Given the description of an element on the screen output the (x, y) to click on. 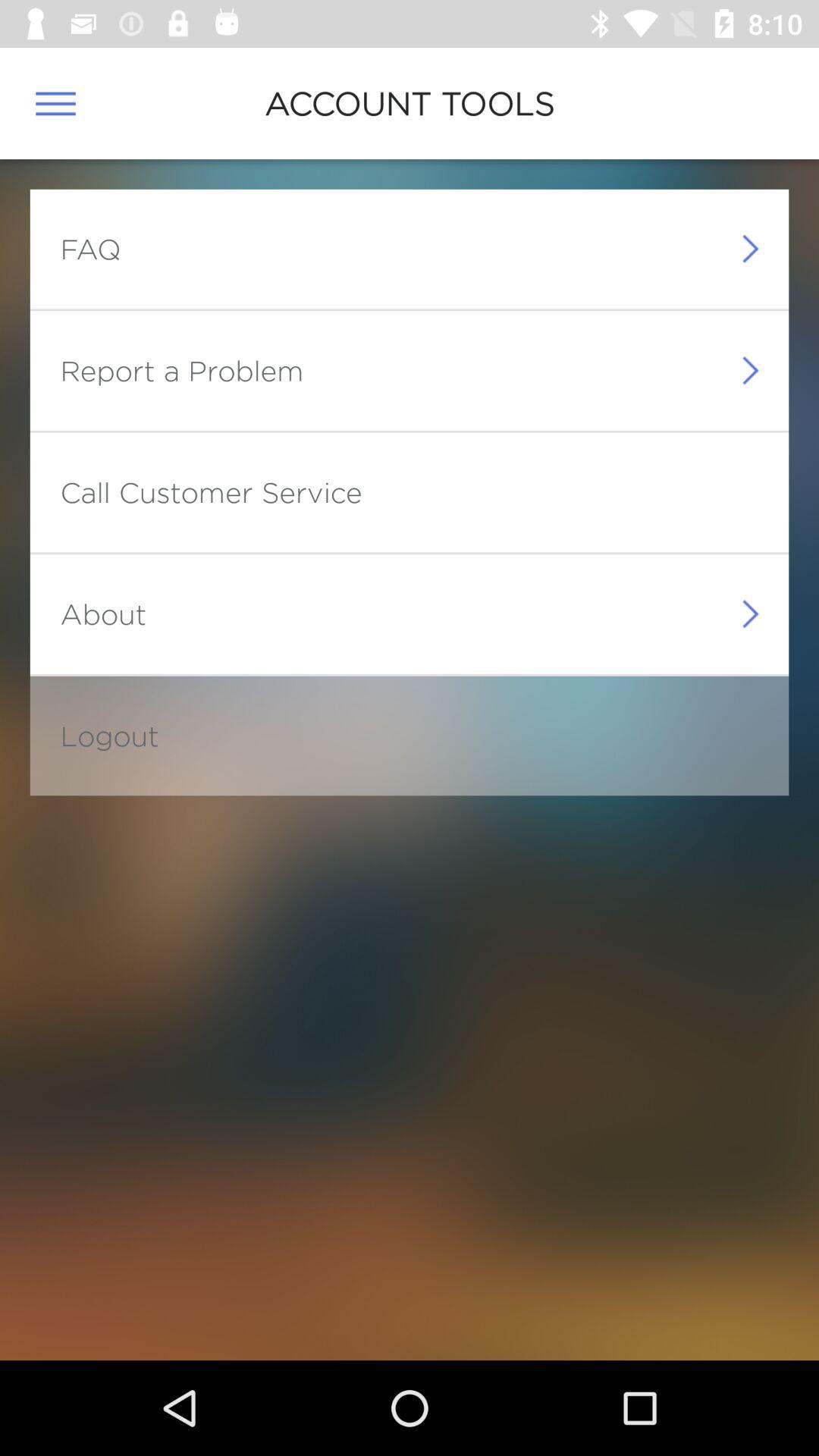
choose the app below the about app (109, 735)
